Given the description of an element on the screen output the (x, y) to click on. 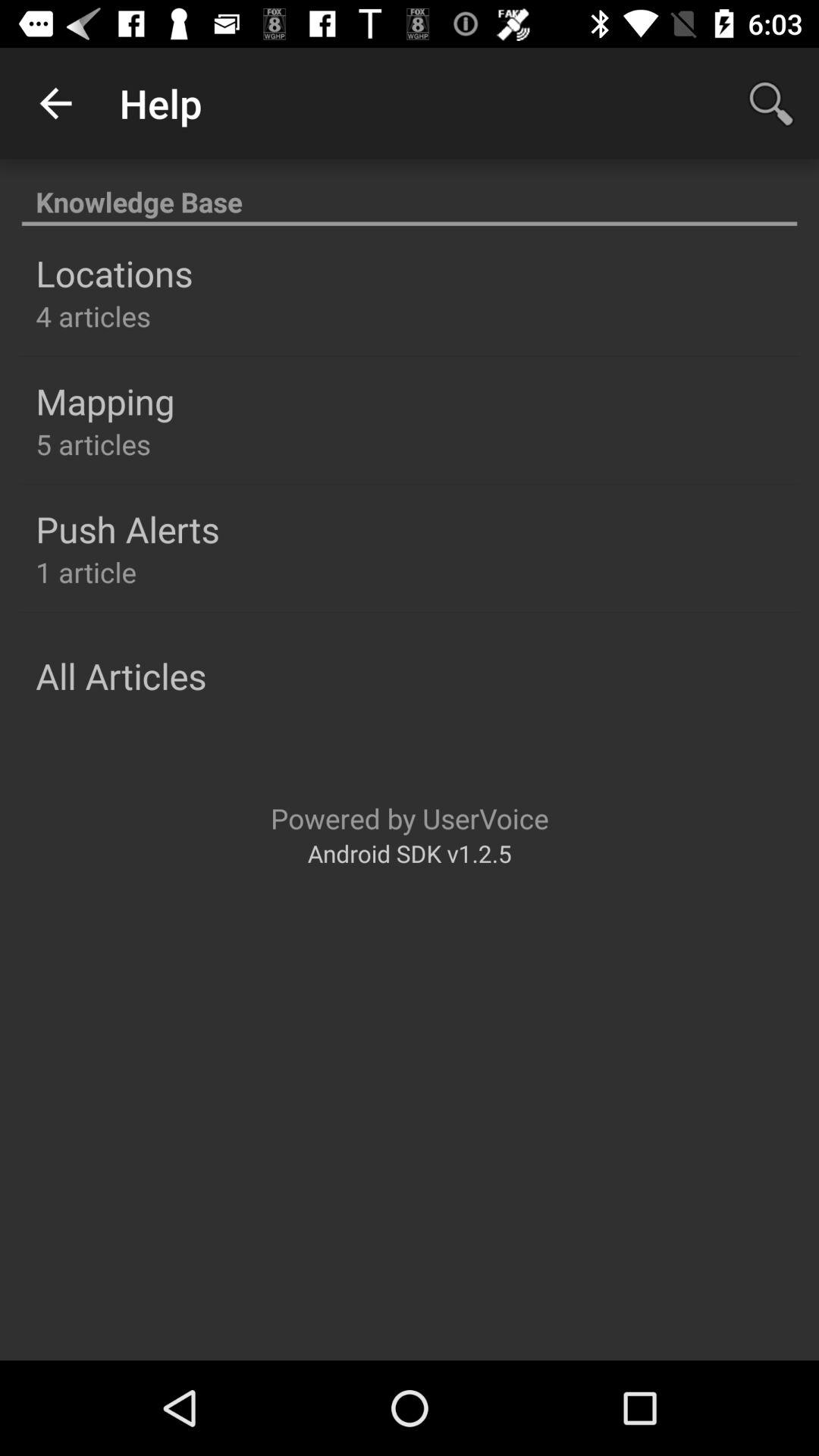
choose the app to the right of help icon (771, 103)
